Given the description of an element on the screen output the (x, y) to click on. 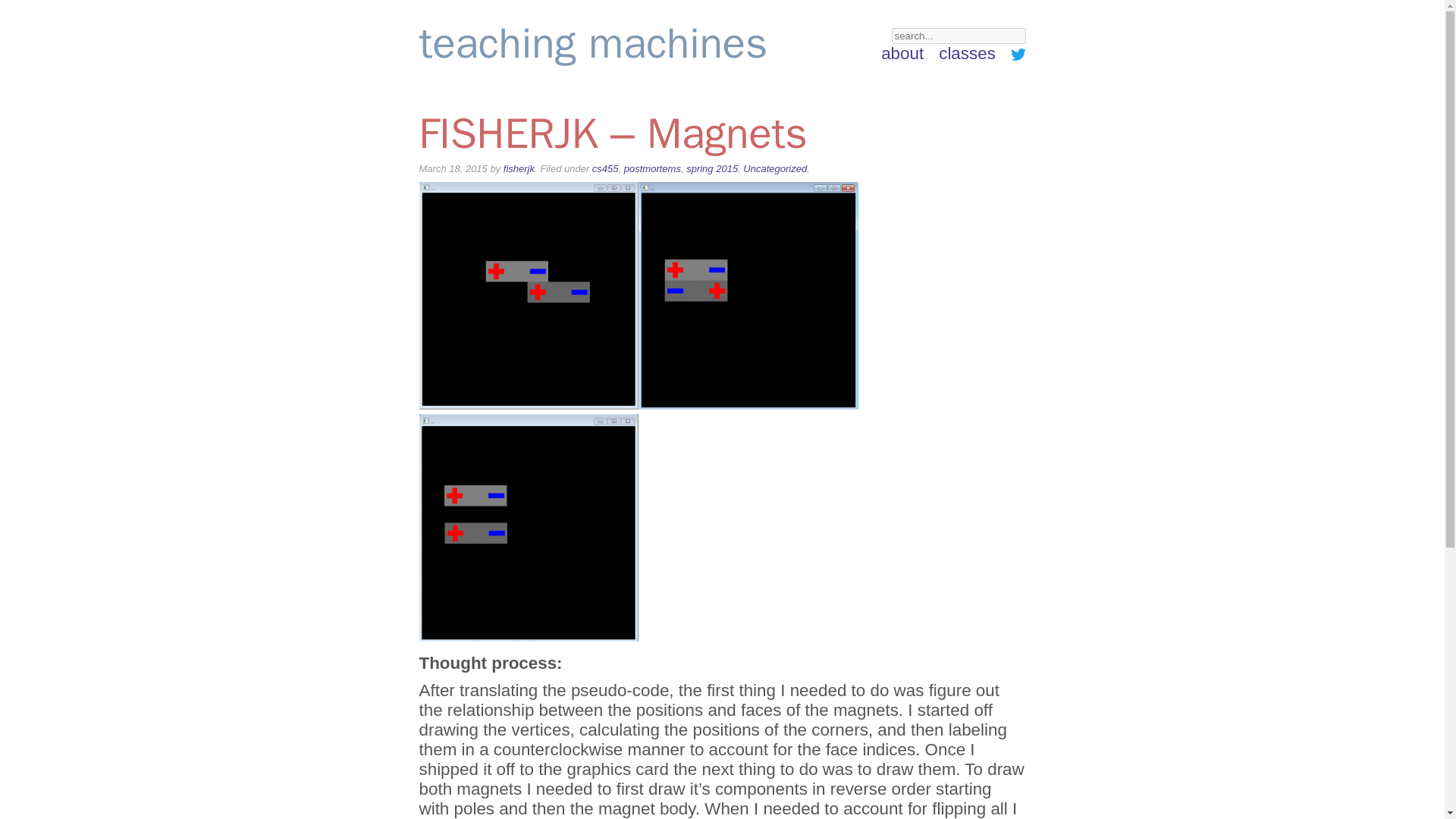
Posts by fisherjk (518, 168)
fisherjk (518, 168)
